Given the description of an element on the screen output the (x, y) to click on. 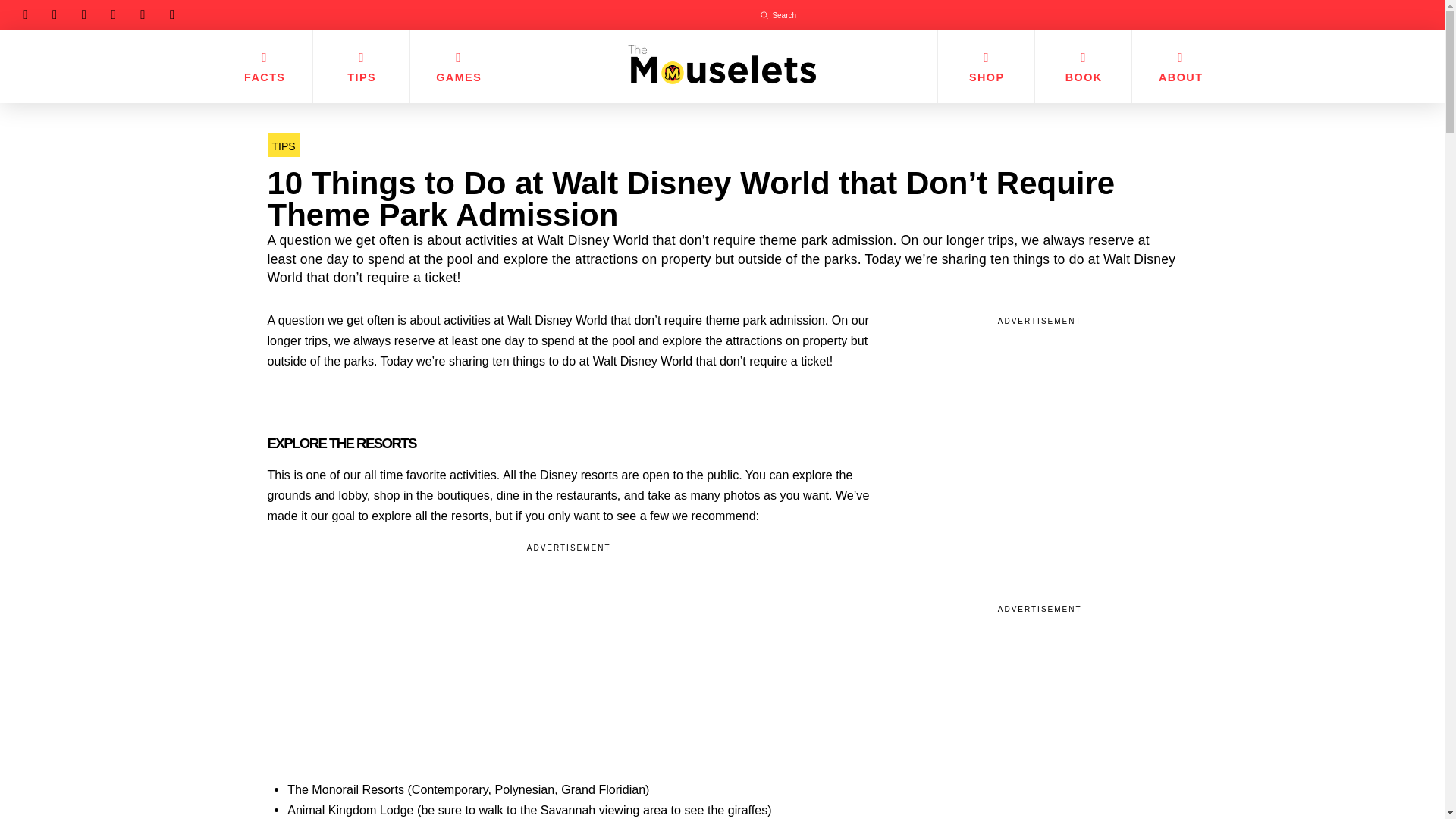
BOOK (1082, 66)
TIPS (282, 145)
GAMES (458, 66)
Submit (764, 14)
FACTS (264, 66)
SHOP (985, 66)
TIPS (361, 66)
ABOUT (1179, 66)
